Given the description of an element on the screen output the (x, y) to click on. 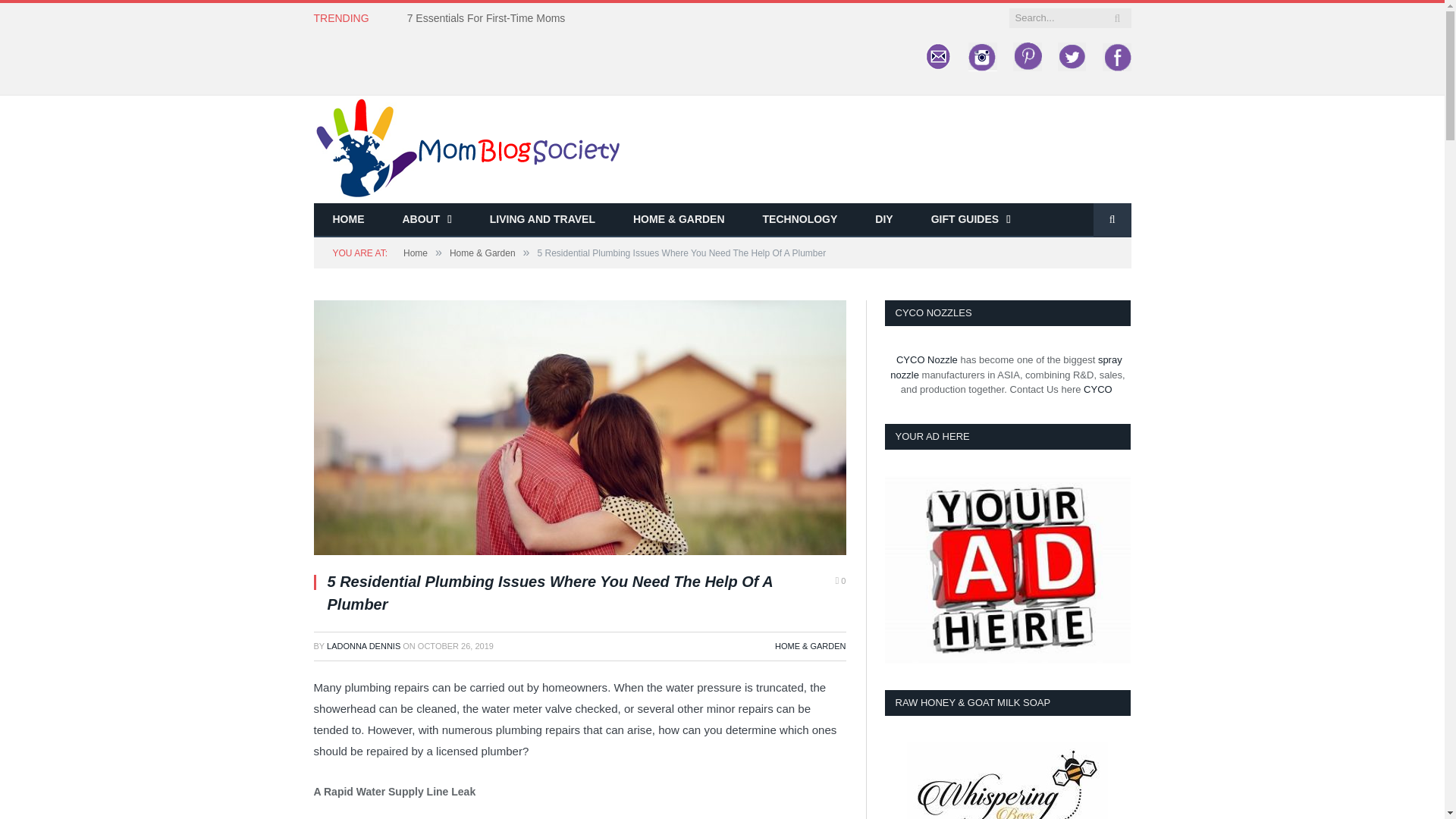
Search (1112, 220)
ABOUT (427, 220)
GIFT GUIDES (970, 220)
TECHNOLOGY (800, 220)
7 Essentials For First-Time Moms (490, 18)
HOME (349, 220)
DIY (883, 220)
7 Essentials For First-Time Moms (490, 18)
Mom Blog Society (467, 146)
LIVING AND TRAVEL (542, 220)
